Given the description of an element on the screen output the (x, y) to click on. 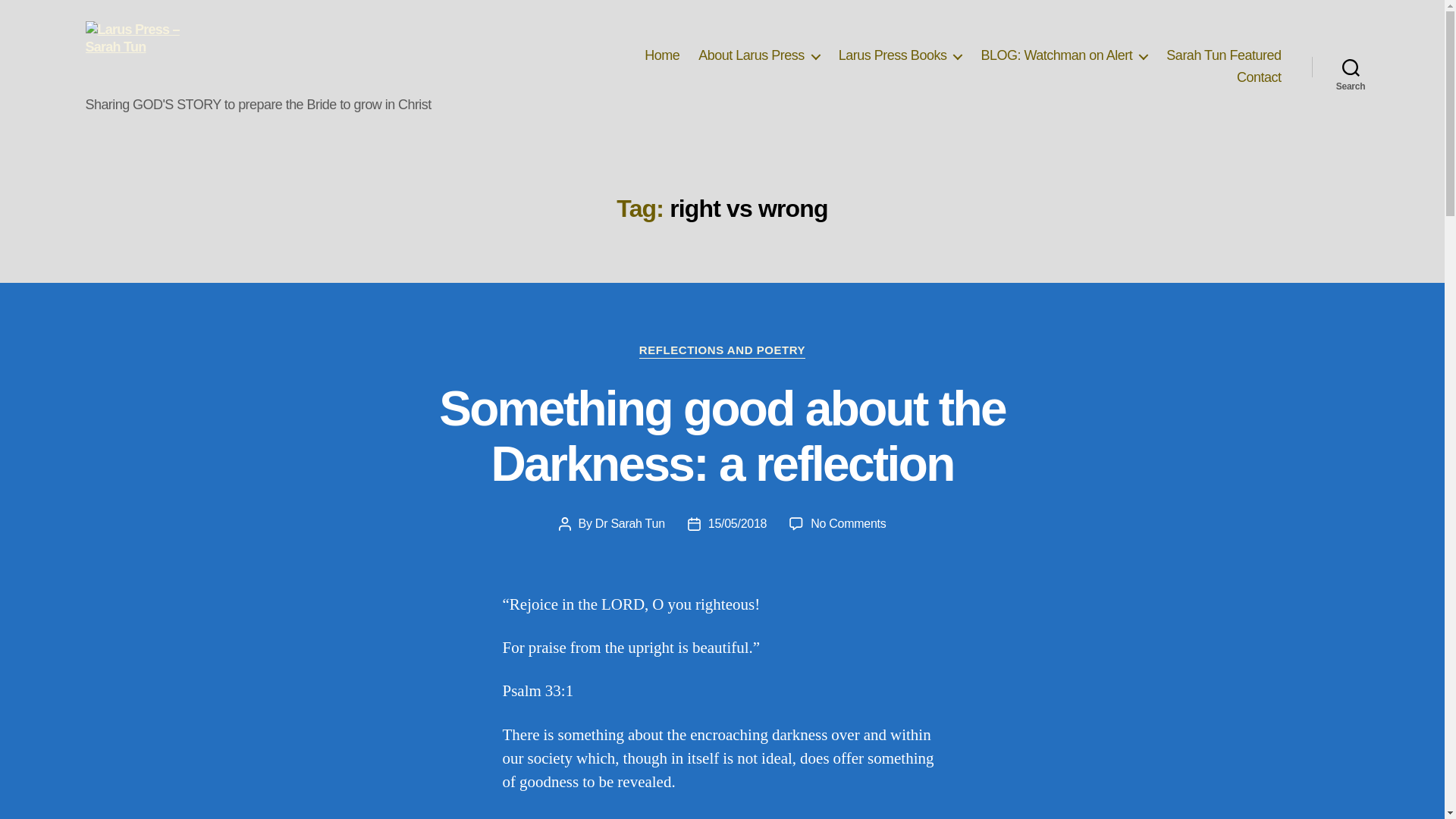
BLOG: Watchman on Alert (1063, 55)
Contact (1258, 77)
Sarah Tun Featured (1223, 55)
Search (1350, 66)
Larus Press Books (900, 55)
About Larus Press (758, 55)
Home (662, 55)
